Given the description of an element on the screen output the (x, y) to click on. 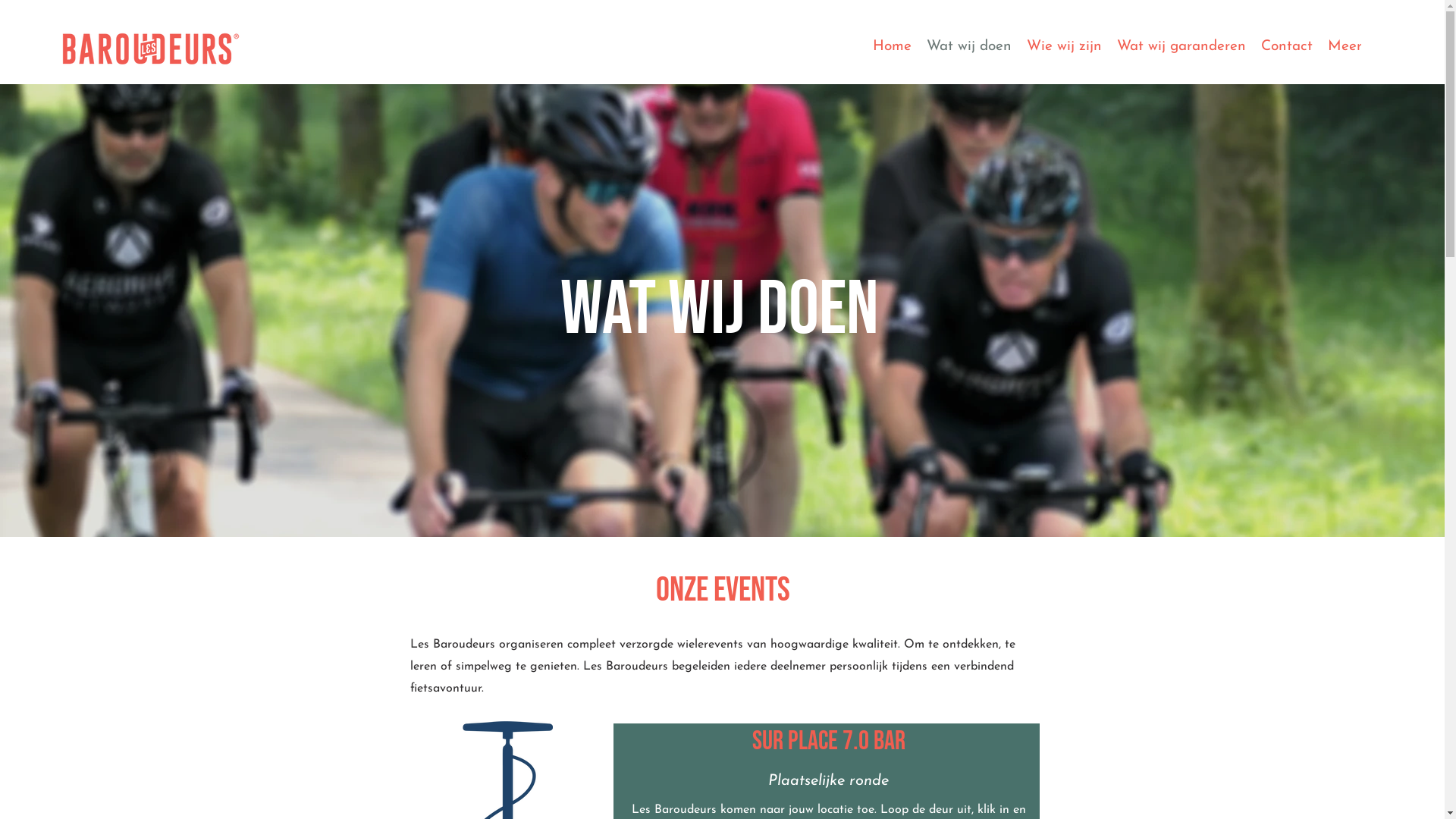
Wie wij zijn Element type: text (1064, 48)
Home Element type: text (892, 48)
Wat wij doen Element type: text (969, 48)
Contact Element type: text (1286, 48)
Wat wij garanderen Element type: text (1181, 48)
